Given the description of an element on the screen output the (x, y) to click on. 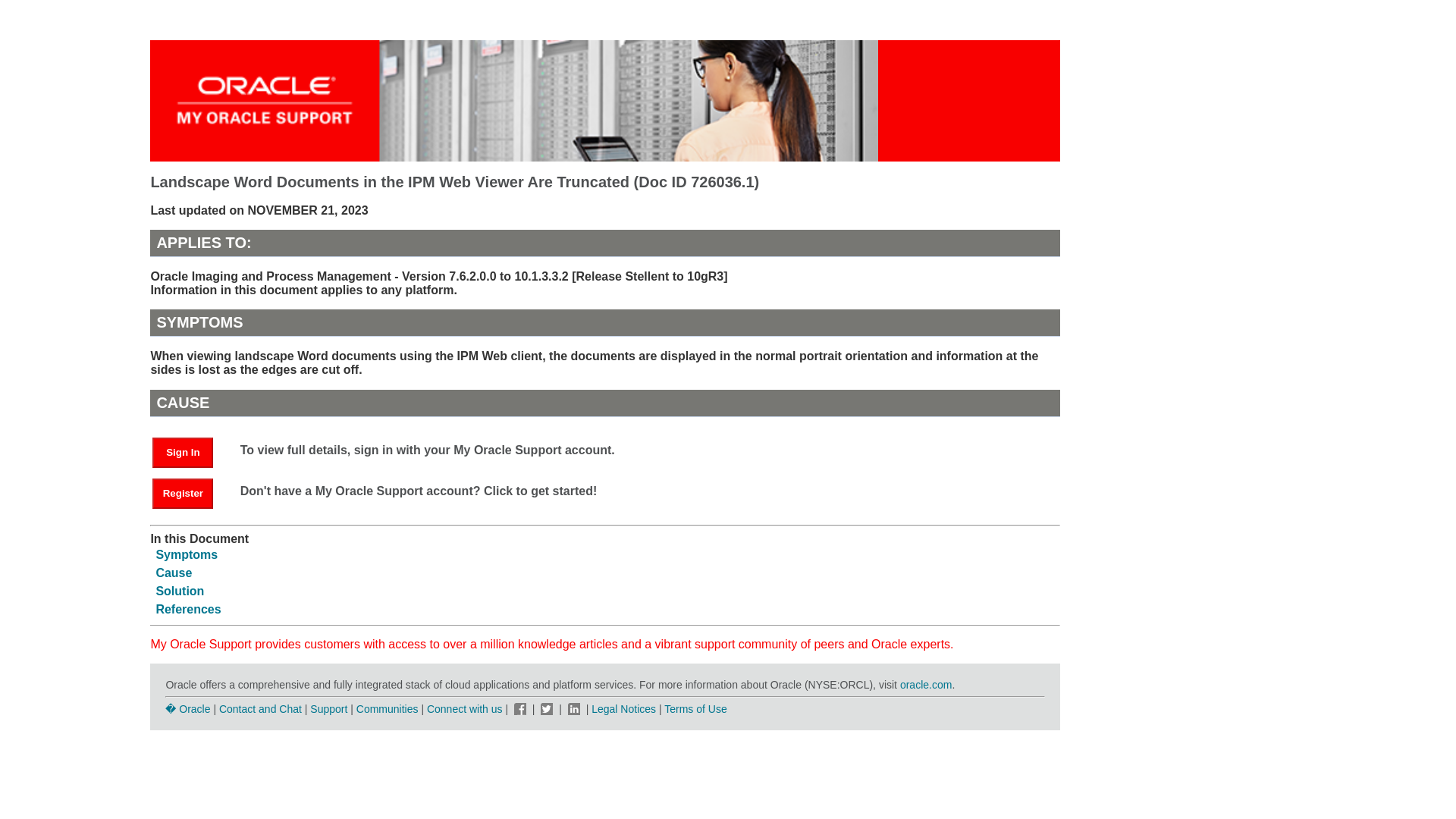
Contact and Chat (260, 708)
oracle.com (925, 684)
Legal Notices (623, 708)
References (188, 608)
Connect with us (465, 708)
Symptoms (185, 554)
Sign In (190, 451)
Sign In (182, 452)
Terms of Use (694, 708)
Register (190, 492)
